Given the description of an element on the screen output the (x, y) to click on. 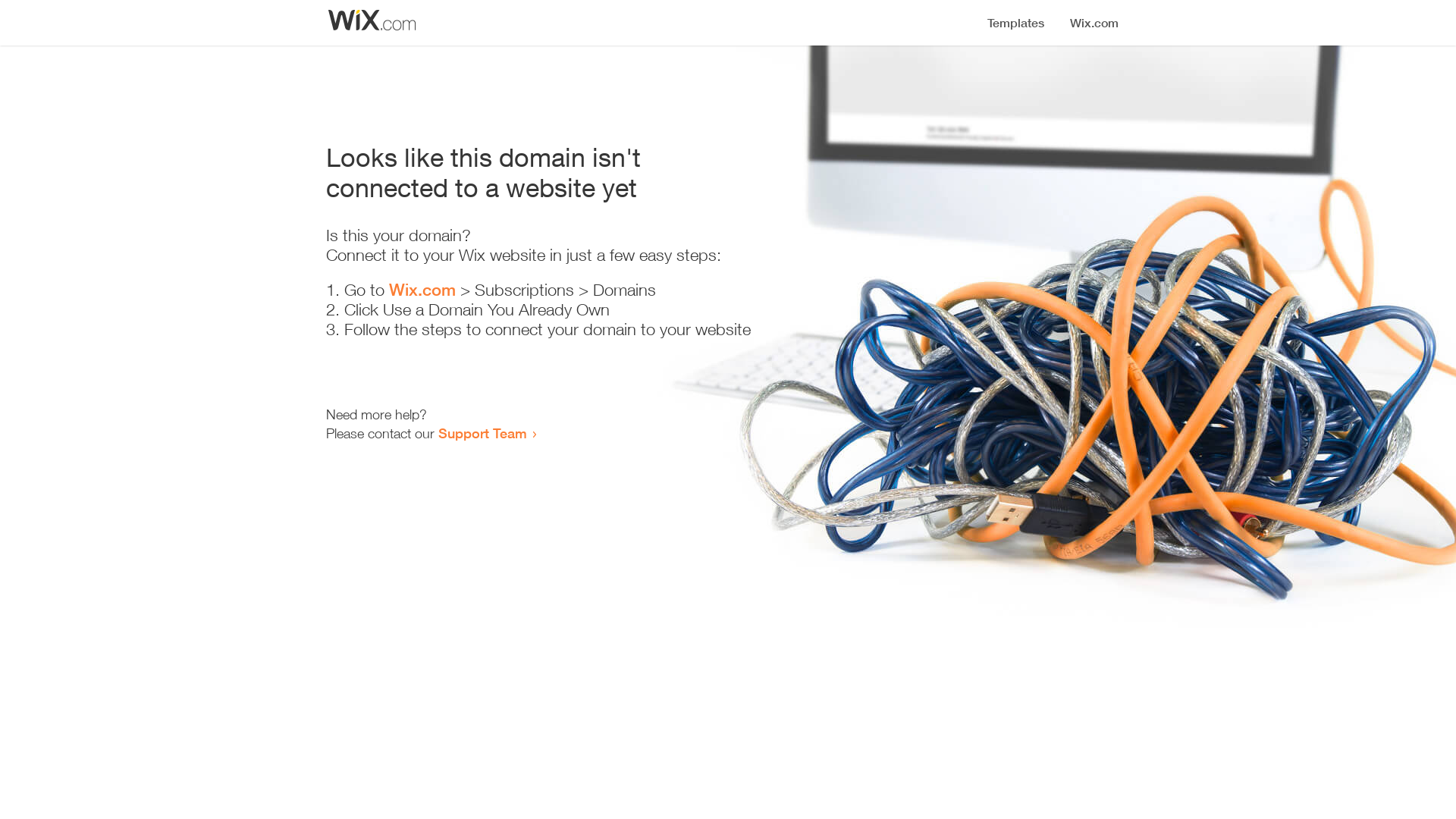
Wix.com Element type: text (422, 289)
Support Team Element type: text (482, 432)
